Given the description of an element on the screen output the (x, y) to click on. 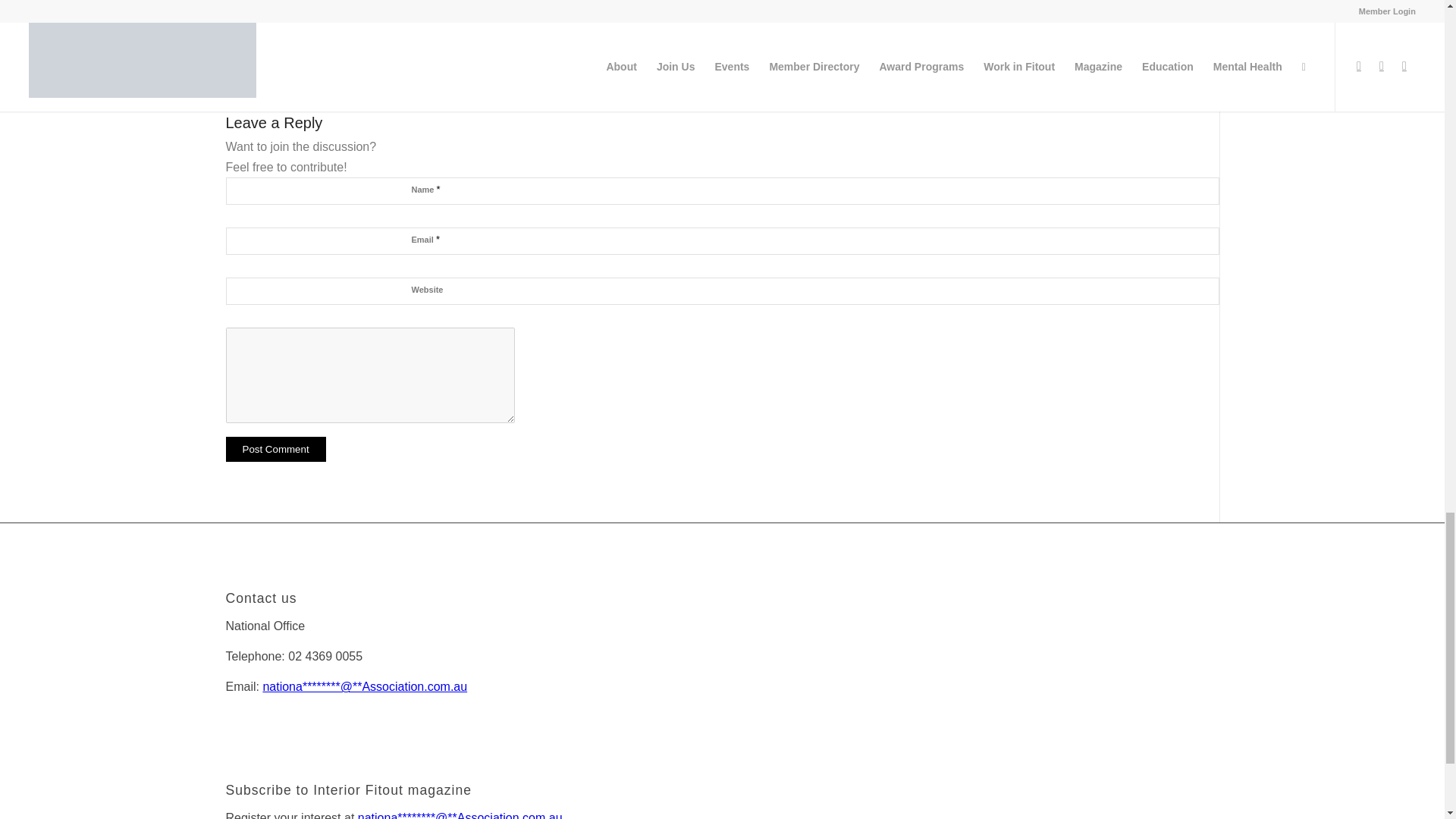
Post Comment (275, 448)
